Given the description of an element on the screen output the (x, y) to click on. 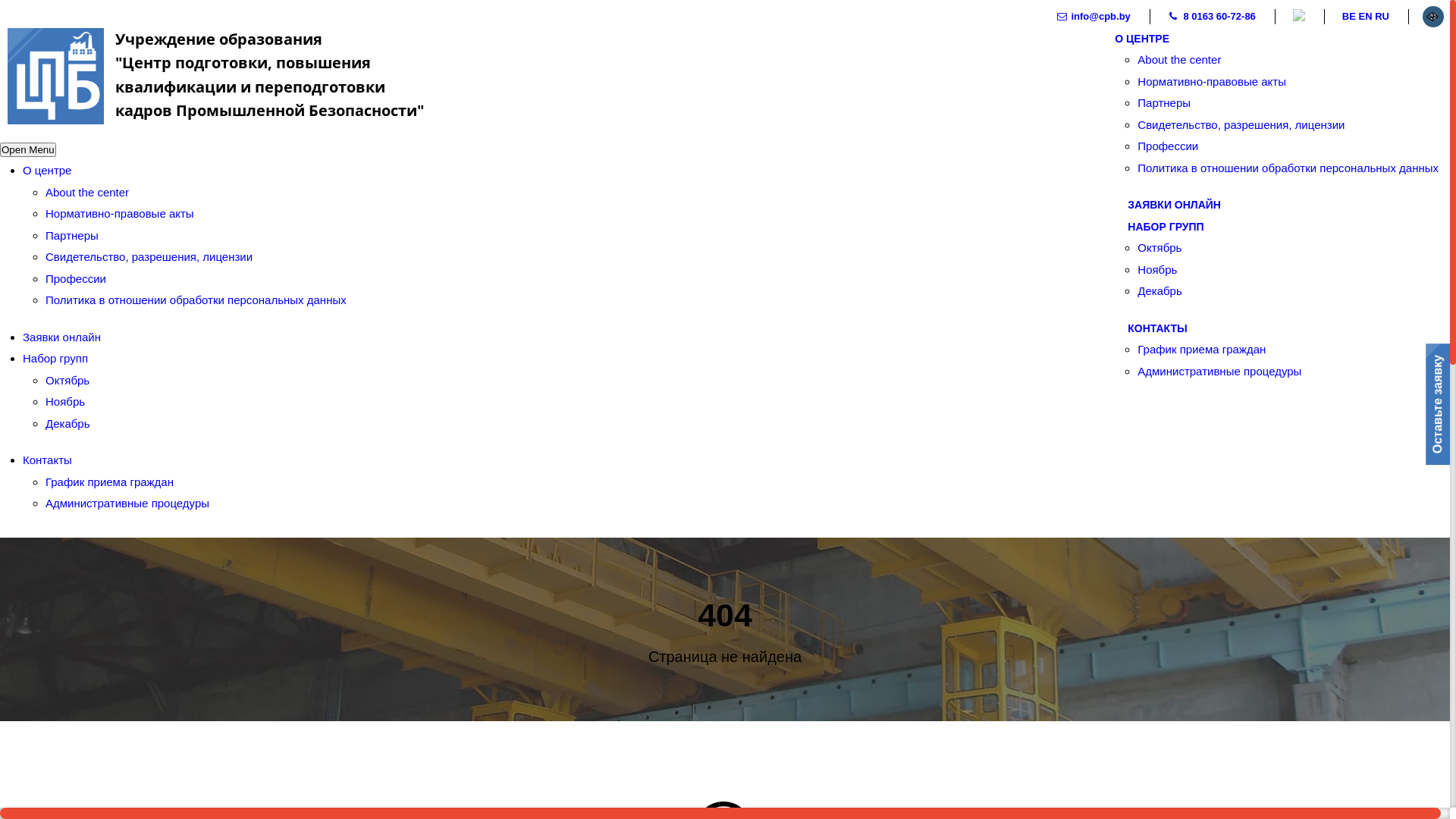
RU Element type: text (1381, 15)
Open Menu Element type: text (28, 149)
info@cpb.by Element type: text (1093, 15)
About the center Element type: text (86, 191)
BE Element type: text (1348, 15)
EN Element type: text (1365, 15)
8 0163 60-72-86 Element type: text (1212, 15)
About the center Element type: text (1178, 59)
